Given the description of an element on the screen output the (x, y) to click on. 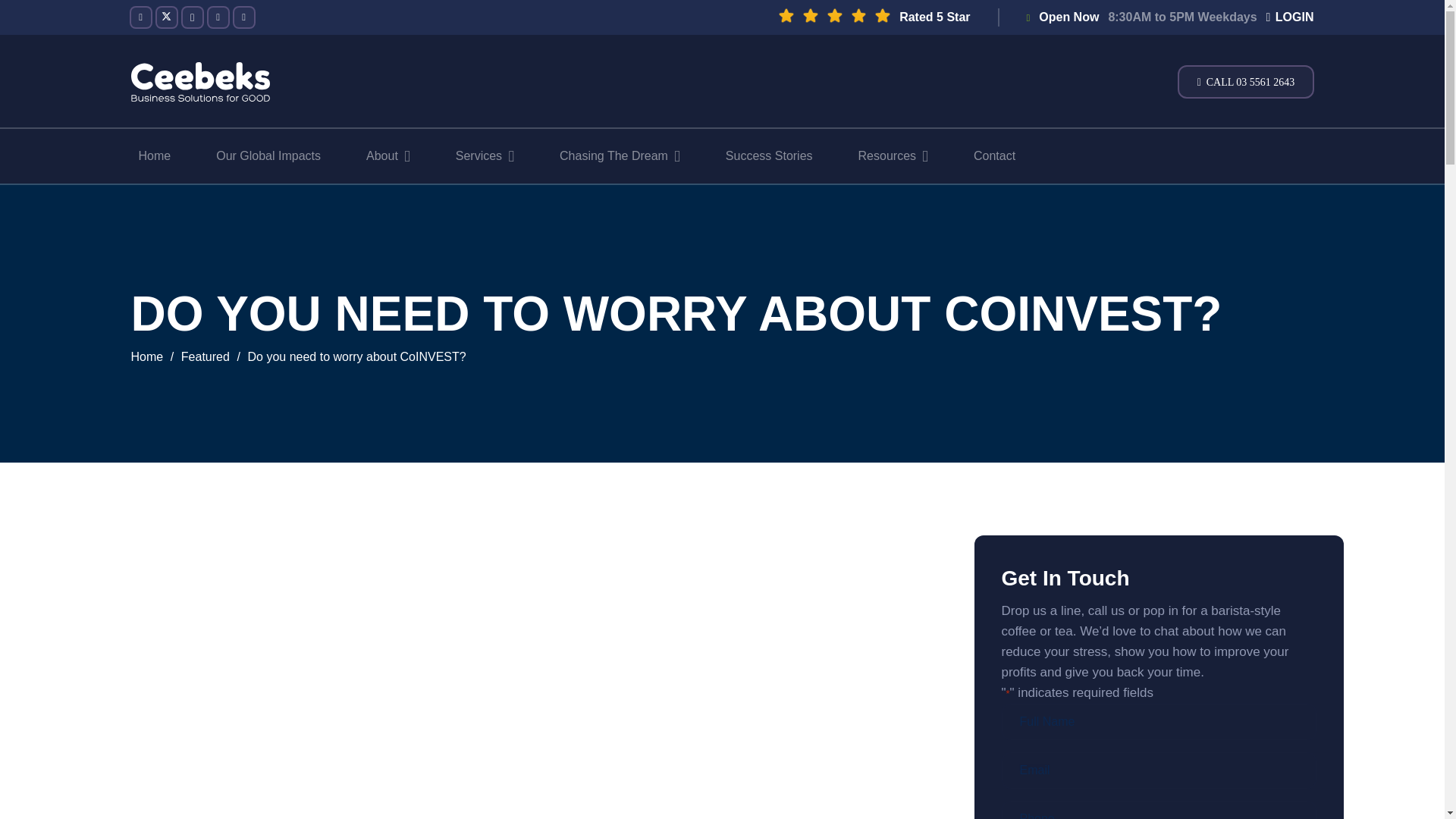
Resources (892, 155)
Instagram (192, 17)
LOGIN (1290, 16)
About (387, 155)
Facebook (140, 17)
YouTube (217, 17)
Home (154, 155)
Services (484, 155)
LinkedIn (242, 17)
Success Stories (769, 155)
